Given the description of an element on the screen output the (x, y) to click on. 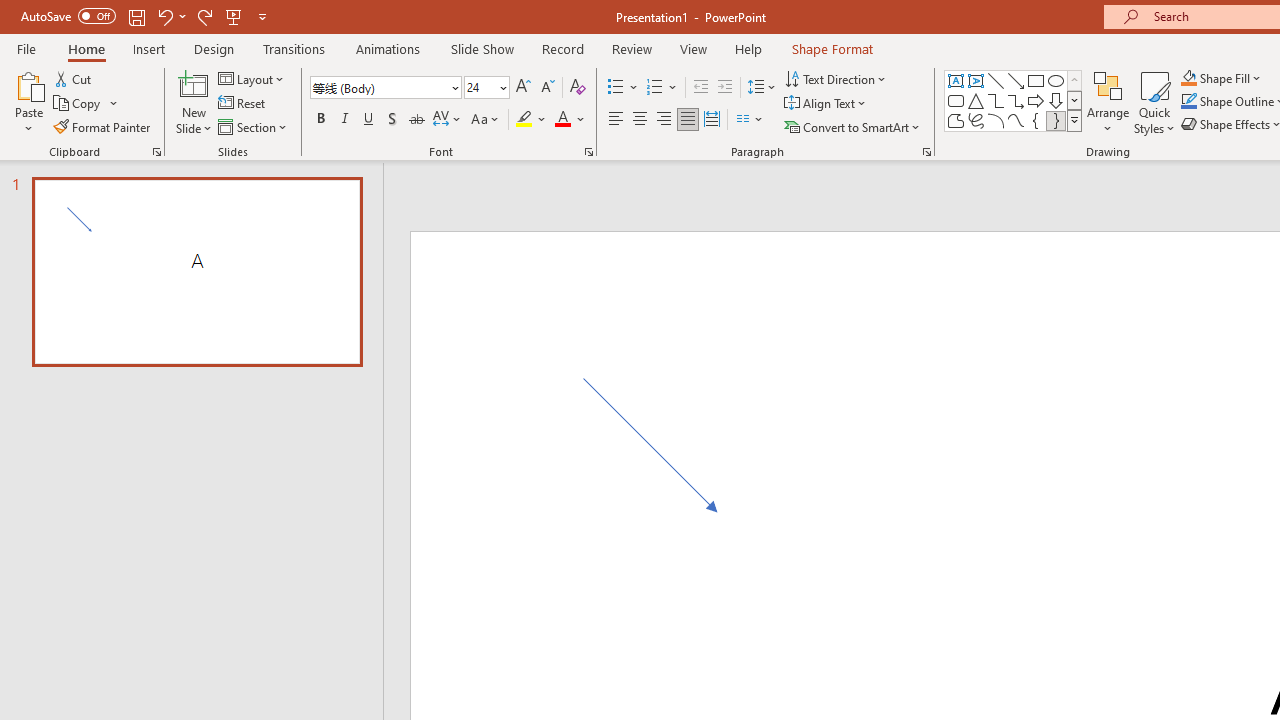
Cut (73, 78)
Right Brace (1055, 120)
Increase Font Size (522, 87)
Decrease Font Size (547, 87)
Arrange (1108, 102)
Freeform: Shape (955, 120)
Reset (243, 103)
